Given the description of an element on the screen output the (x, y) to click on. 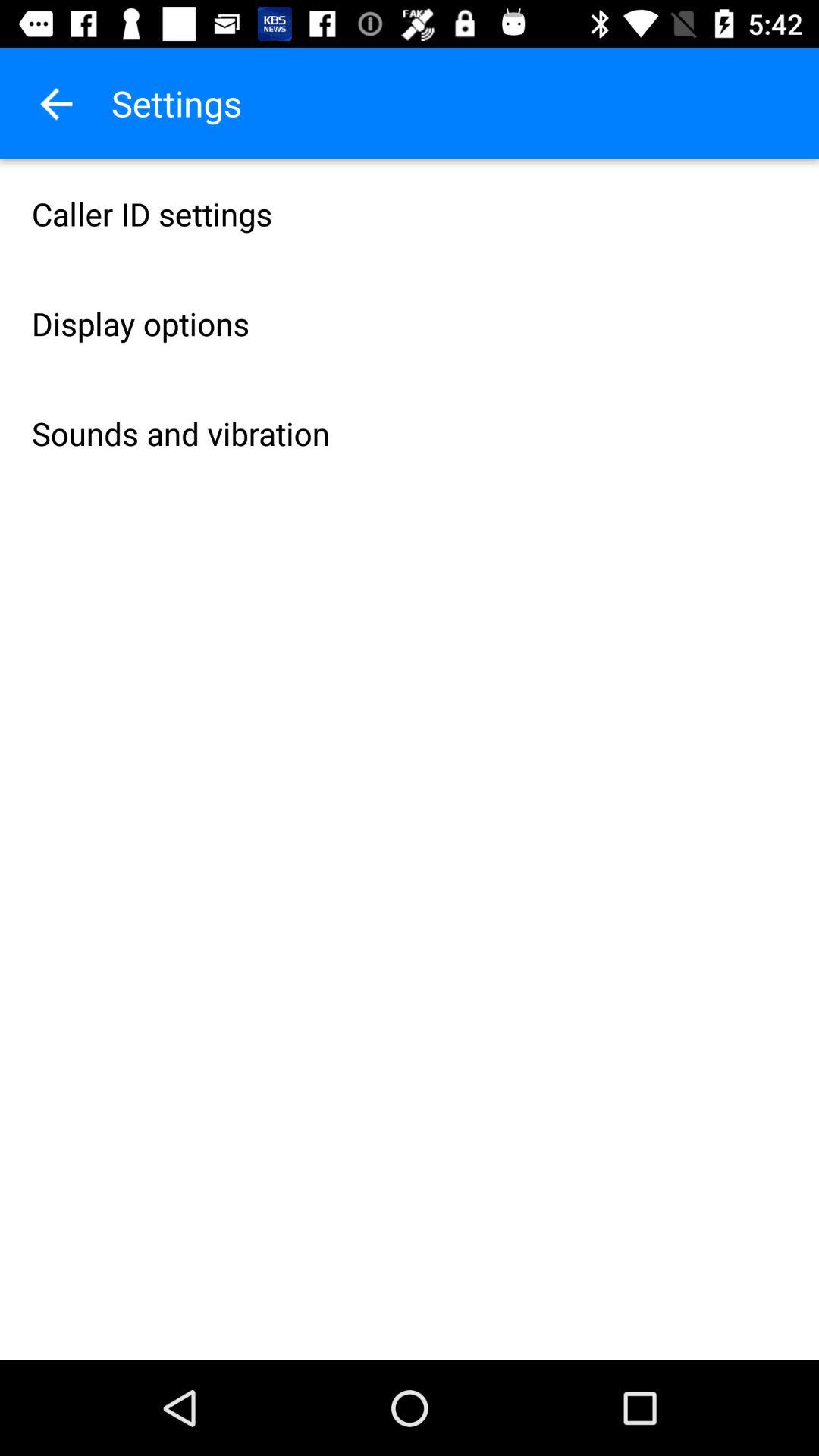
select the item next to settings (55, 103)
